Given the description of an element on the screen output the (x, y) to click on. 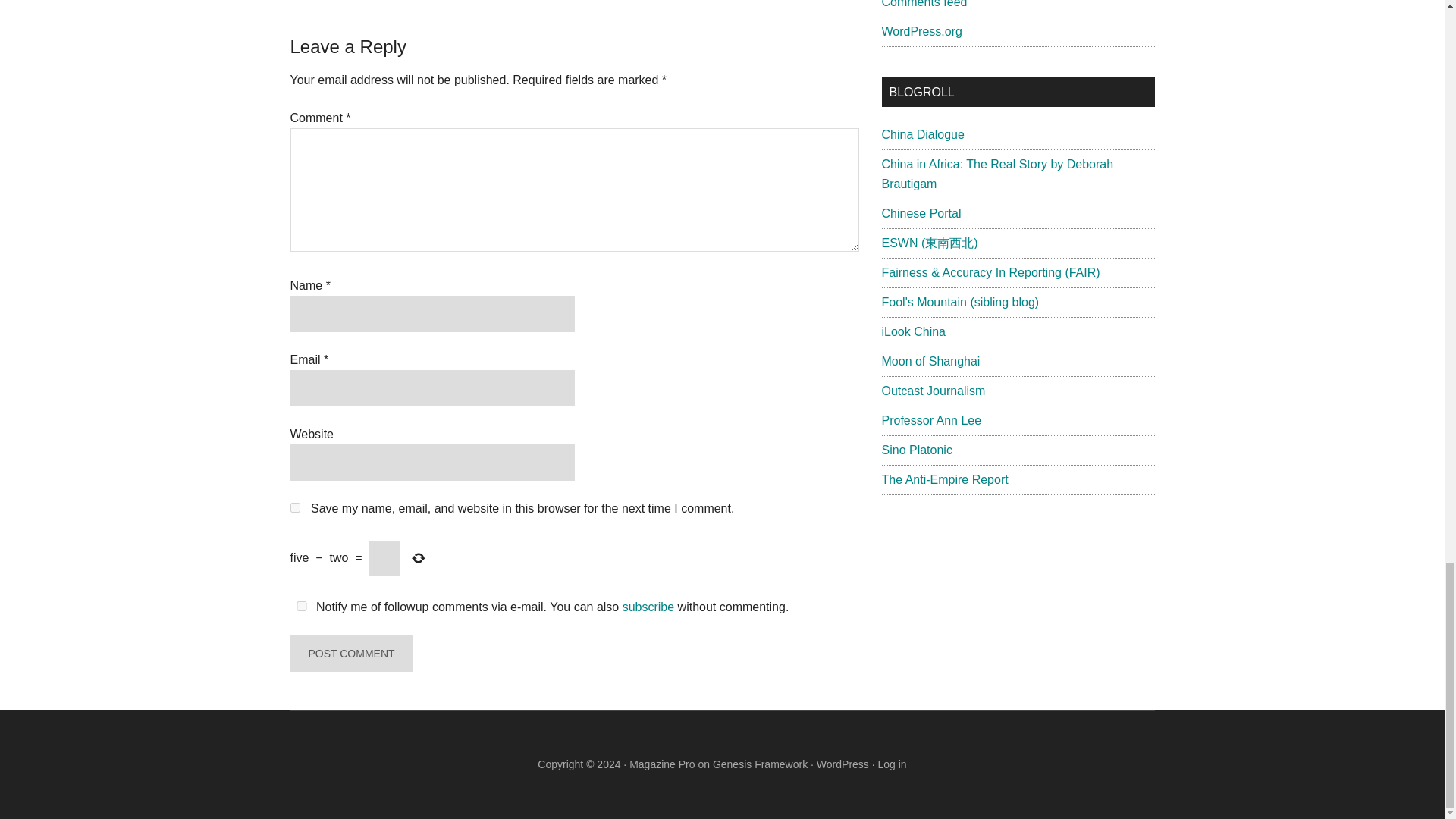
Post Comment (350, 653)
yes (294, 507)
yes (301, 605)
Post Comment (350, 653)
subscribe (648, 606)
